Given the description of an element on the screen output the (x, y) to click on. 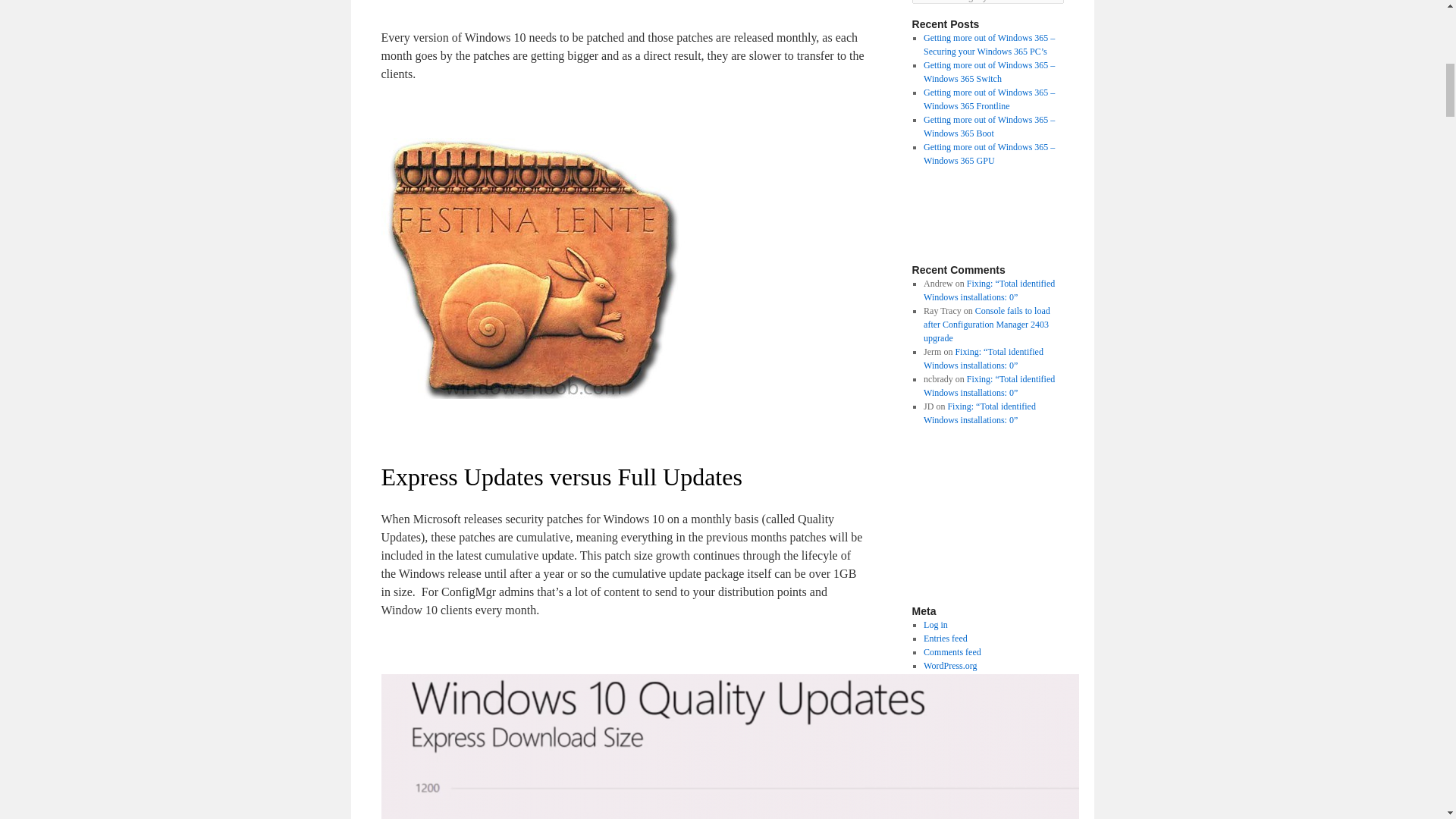
1 pQApZLe4wv9Rm0tLIvWqNw.jpeg - Size: 42.78KB (532, 394)
